Given the description of an element on the screen output the (x, y) to click on. 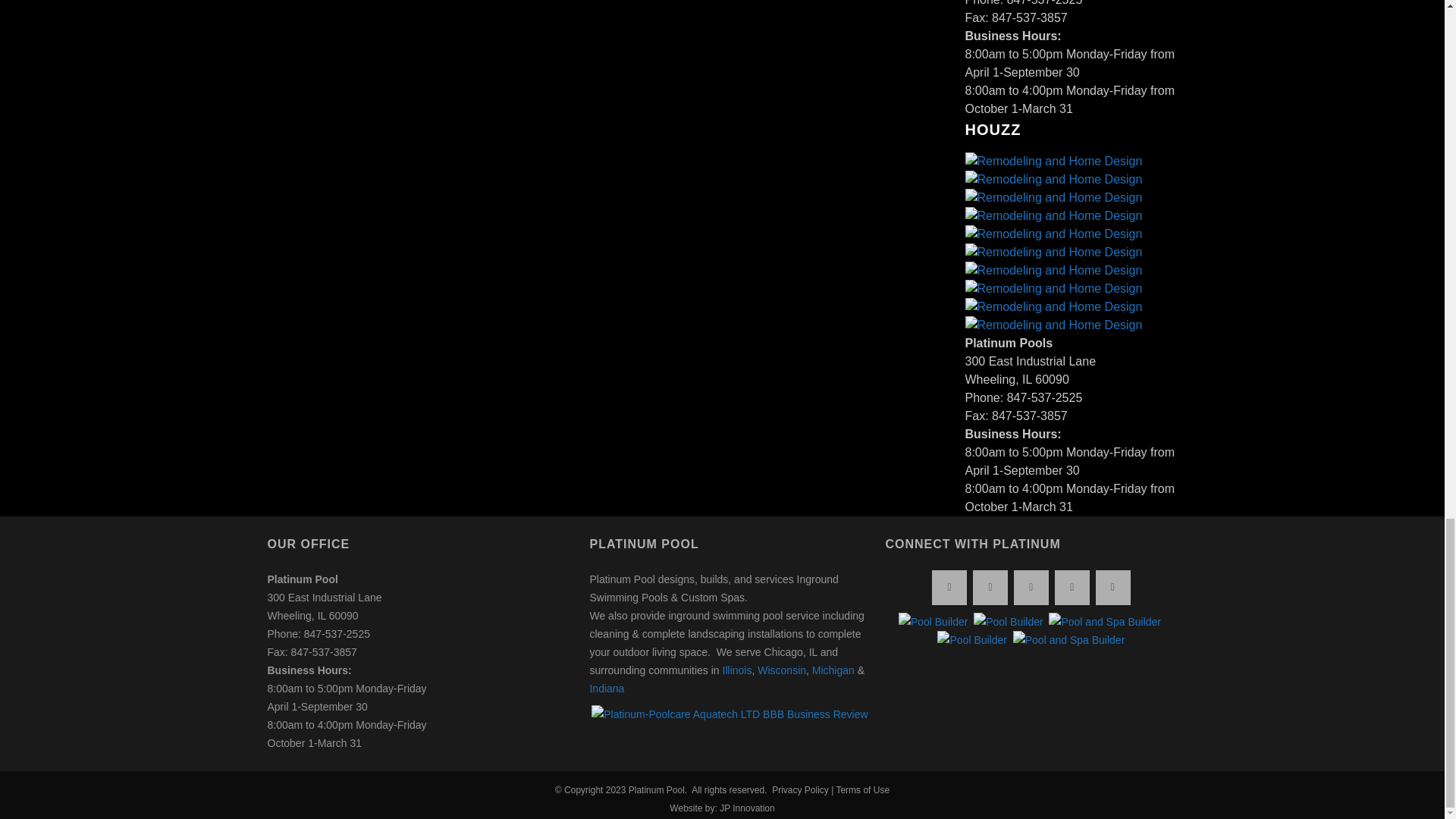
Pool and Spa builder (1104, 621)
Pool builder (933, 621)
Pool builder (972, 639)
Pool builder (1008, 621)
Pool and Spa builder (1069, 639)
